Given the description of an element on the screen output the (x, y) to click on. 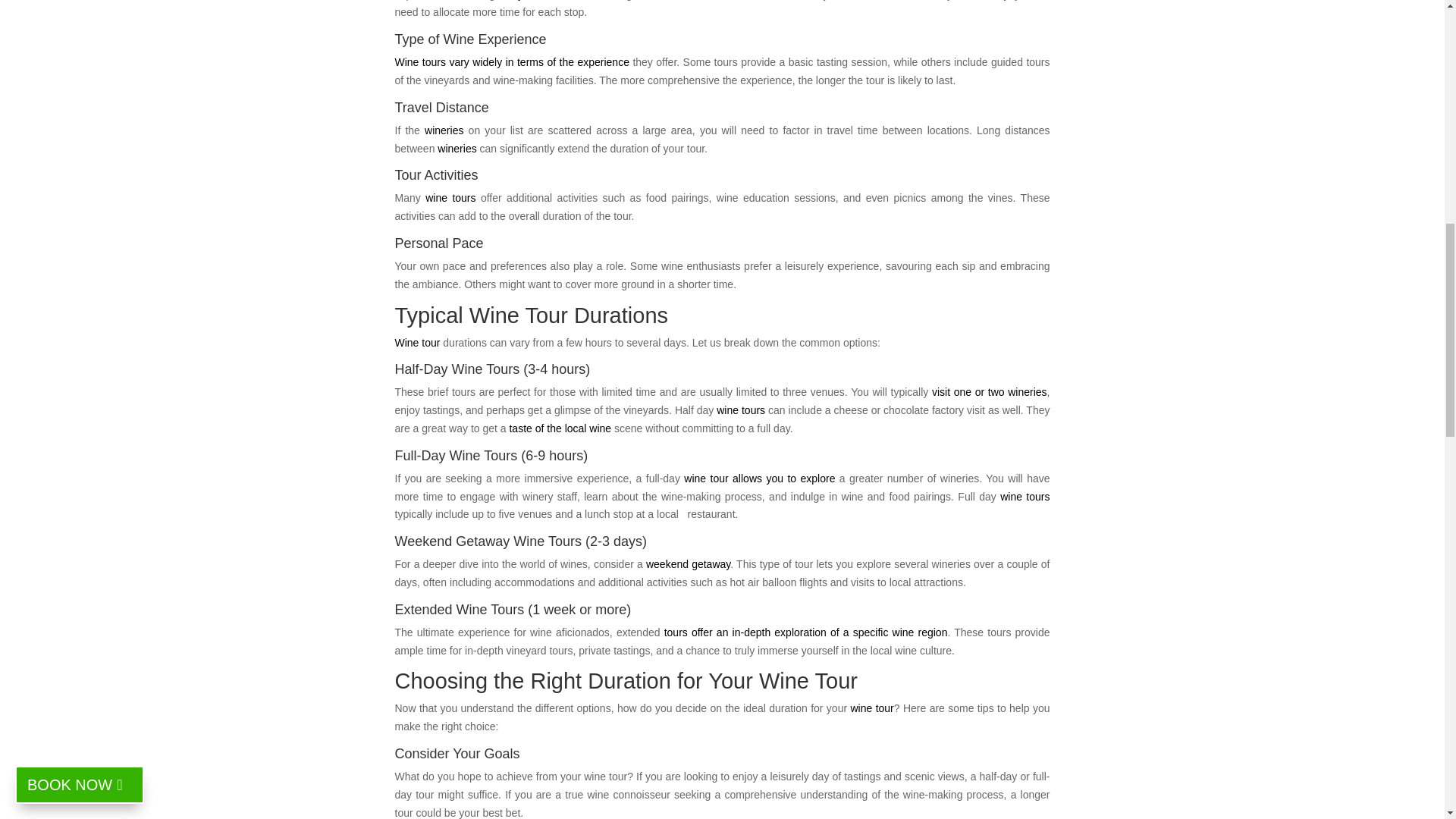
wine tours (740, 410)
wineries (444, 130)
wine tour allows you to explore (759, 478)
taste of the local wine (559, 428)
visit one or two wineries (988, 391)
wine tours (450, 197)
wine tours (1024, 496)
vineyard tours (531, 0)
Wine tour (416, 342)
